Given the description of an element on the screen output the (x, y) to click on. 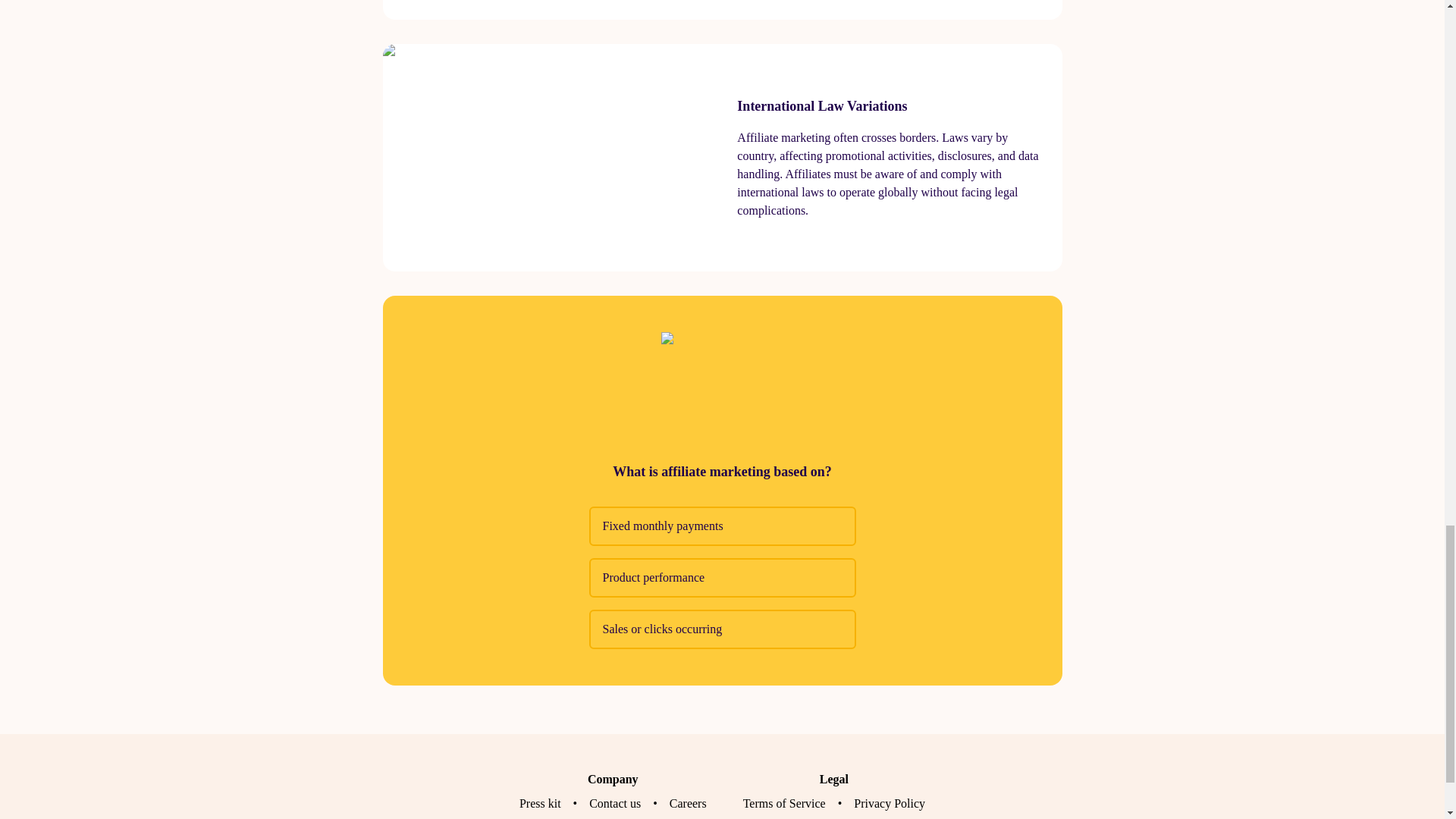
Privacy Policy (888, 802)
Press kit (539, 802)
Terms of Service (783, 802)
Contact us (614, 802)
Careers (687, 802)
